Given the description of an element on the screen output the (x, y) to click on. 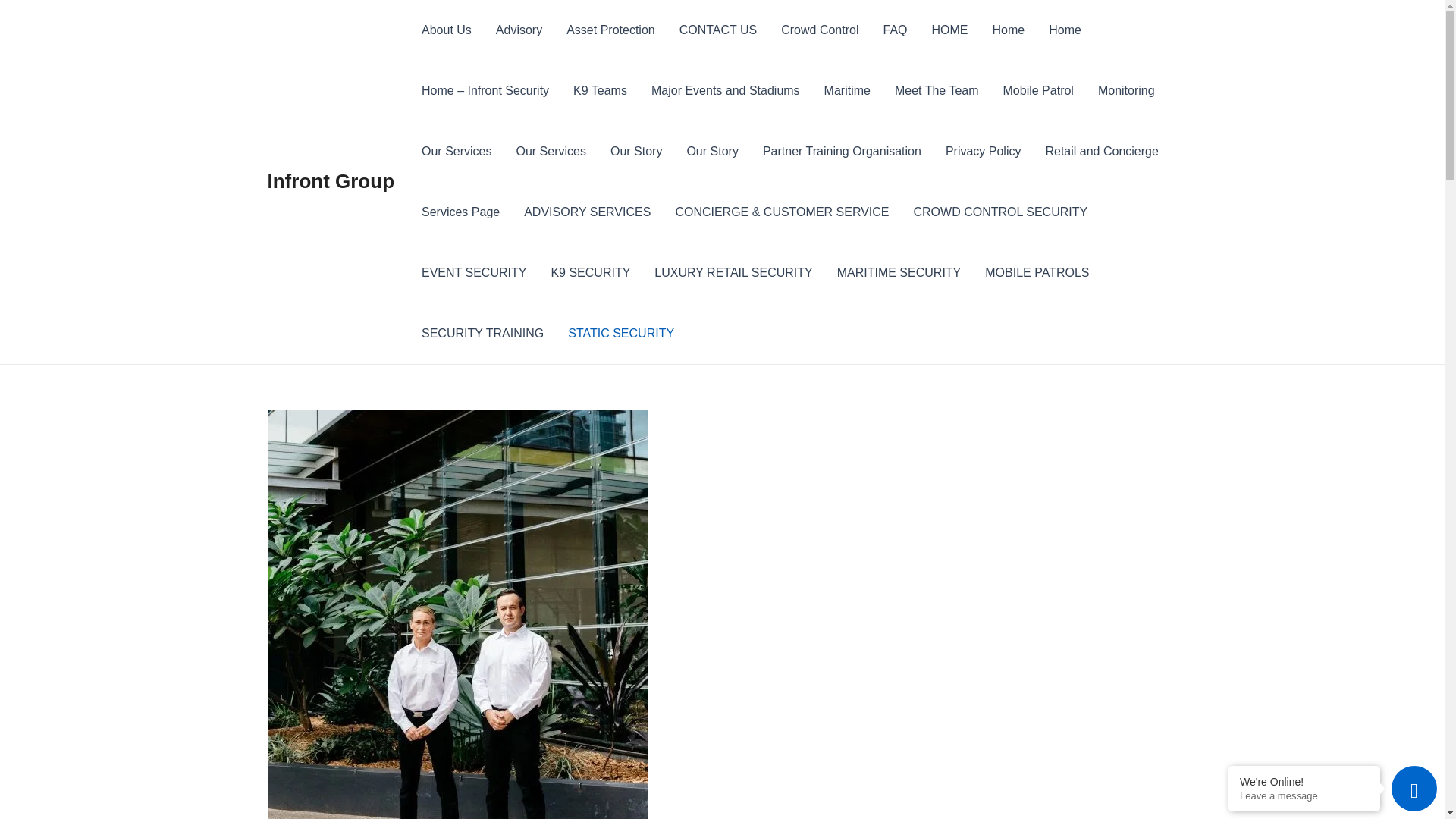
Mobile Patrol Element type: text (1038, 90)
K9 Teams Element type: text (600, 90)
EVENT SECURITY Element type: text (473, 272)
HOME Element type: text (949, 30)
Infront Group Element type: text (330, 180)
FAQ Element type: text (894, 30)
MOBILE PATROLS Element type: text (1036, 272)
SECURITY TRAINING Element type: text (482, 333)
Home Element type: text (1064, 30)
Our Services Element type: text (550, 151)
About Us Element type: text (446, 30)
CONTACT US Element type: text (718, 30)
Major Events and Stadiums Element type: text (725, 90)
Monitoring Element type: text (1126, 90)
Partner Training Organisation Element type: text (841, 151)
Home Element type: text (1007, 30)
Retail and Concierge Element type: text (1101, 151)
ADVISORY SERVICES Element type: text (586, 212)
STATIC SECURITY Element type: text (620, 333)
Privacy Policy Element type: text (983, 151)
CROWD CONTROL SECURITY Element type: text (999, 212)
MARITIME SECURITY Element type: text (899, 272)
K9 SECURITY Element type: text (590, 272)
Services Page Element type: text (460, 212)
Crowd Control Element type: text (819, 30)
Maritime Element type: text (847, 90)
Advisory Element type: text (518, 30)
Our Story Element type: text (636, 151)
LUXURY RETAIL SECURITY Element type: text (733, 272)
CONCIERGE & CUSTOMER SERVICE Element type: text (781, 212)
Asset Protection Element type: text (610, 30)
Our Services Element type: text (456, 151)
Meet The Team Element type: text (936, 90)
Our Story Element type: text (711, 151)
